Given the description of an element on the screen output the (x, y) to click on. 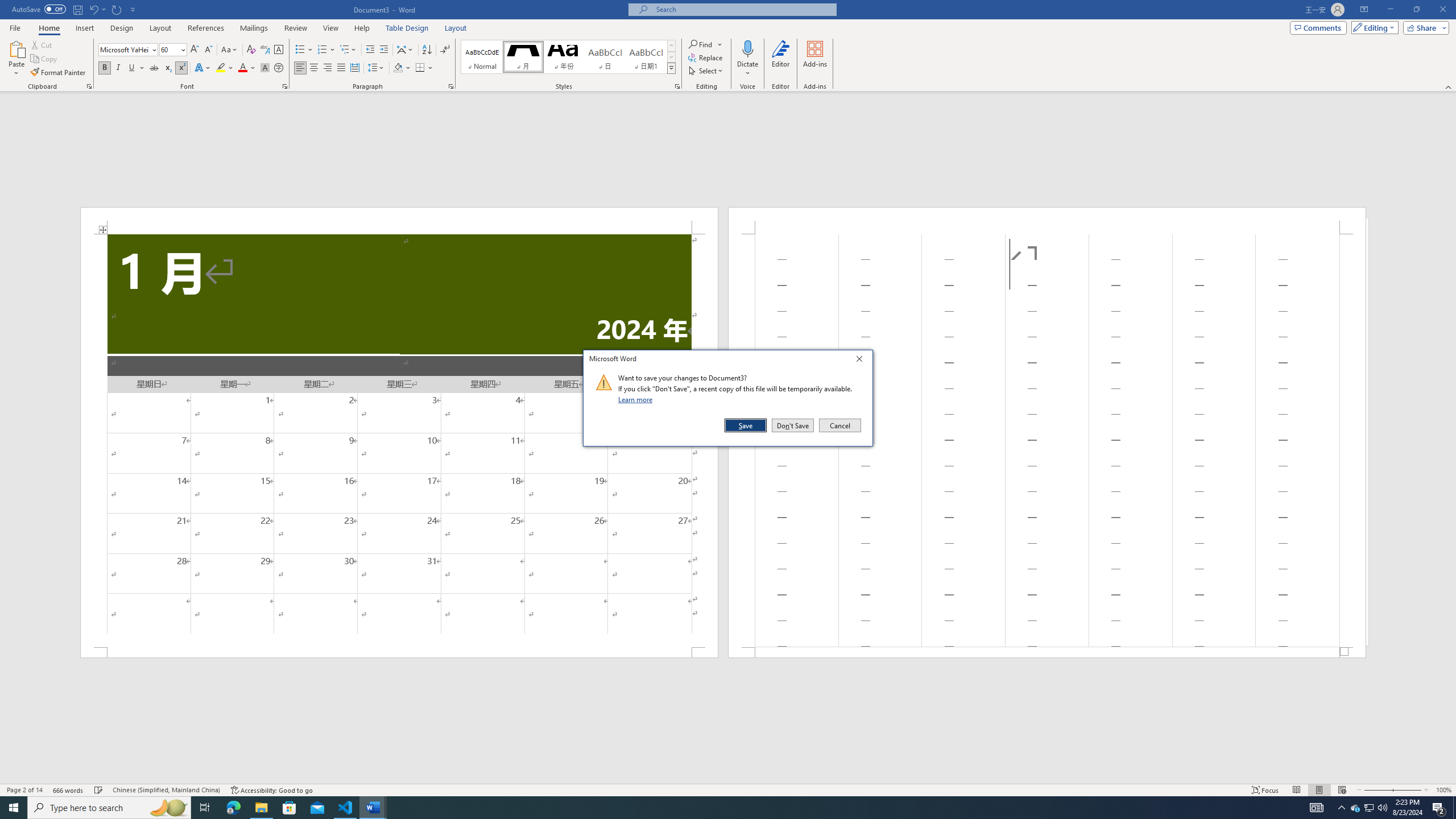
Running applications (717, 807)
Center (313, 67)
Type here to search (108, 807)
Text Highlight Color Yellow (220, 67)
Cancel (839, 425)
